Given the description of an element on the screen output the (x, y) to click on. 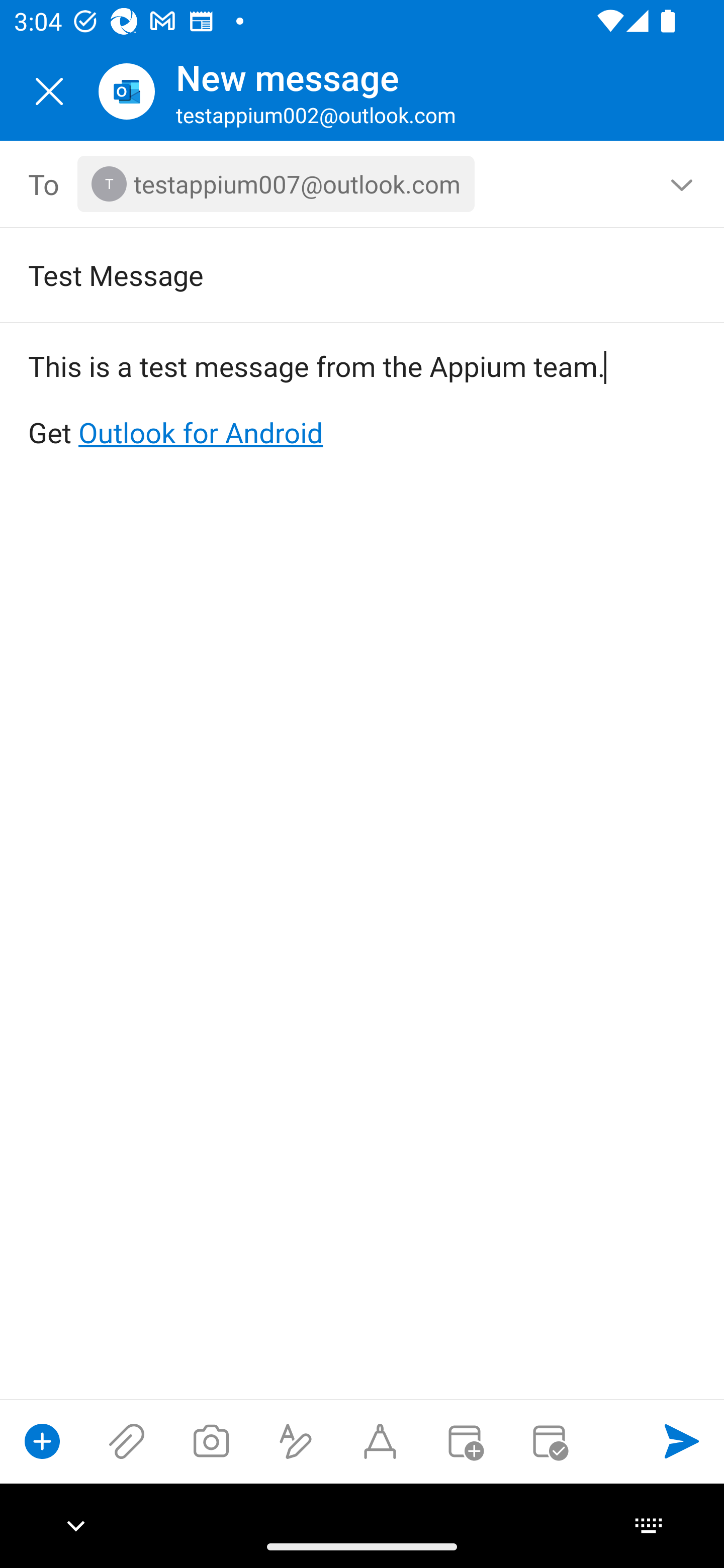
Close (49, 91)
To, 1 recipient <testappium007@outlook.com> (362, 184)
Test Message (333, 274)
Show compose options (42, 1440)
Attach files (126, 1440)
Take a photo (210, 1440)
Show formatting options (295, 1440)
Start Ink compose (380, 1440)
Convert to event (464, 1440)
Send availability (548, 1440)
Send (681, 1440)
